Given the description of an element on the screen output the (x, y) to click on. 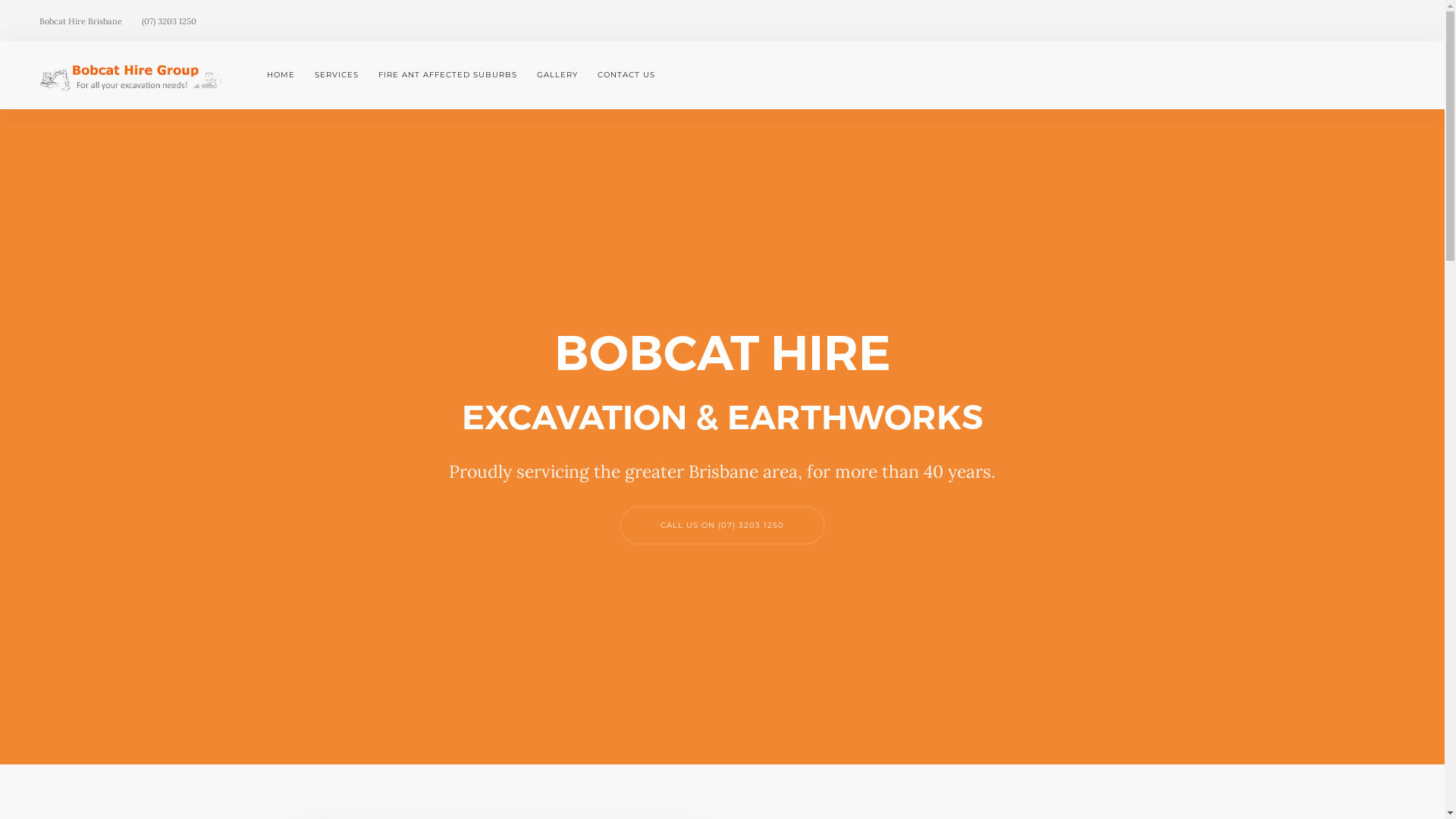
GALLERY Element type: text (557, 74)
SERVICES Element type: text (336, 74)
CALL US ON (07) 3203 1250 Element type: text (722, 524)
CONTACT US Element type: text (621, 74)
HOME Element type: text (285, 74)
FIRE ANT AFFECTED SUBURBS Element type: text (447, 74)
